Given the description of an element on the screen output the (x, y) to click on. 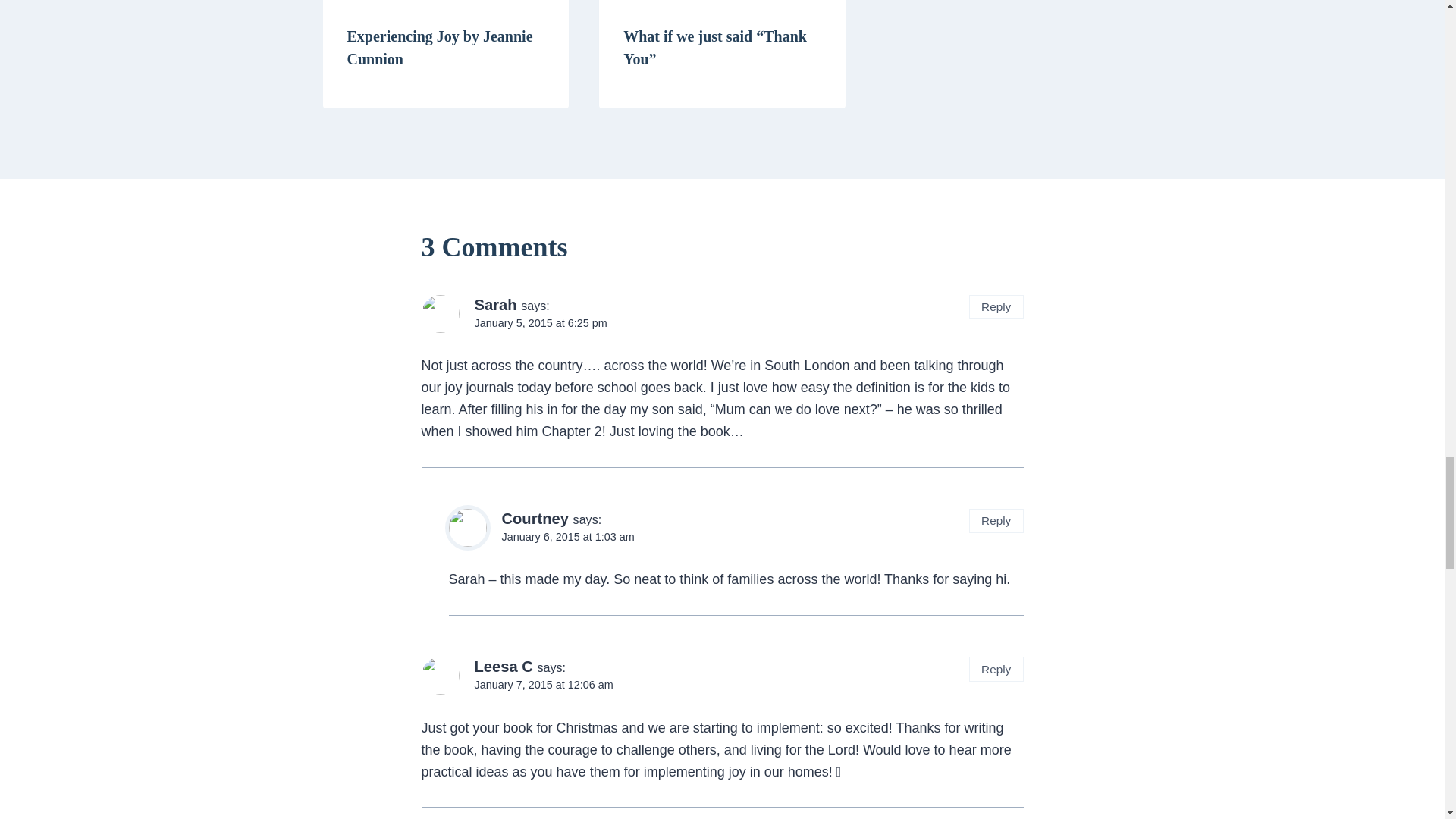
Reply (996, 520)
January 7, 2015 at 12:06 am (543, 684)
Reply (996, 668)
Reply (996, 307)
January 5, 2015 at 6:25 pm (540, 322)
January 6, 2015 at 1:03 am (568, 536)
Experiencing Joy by Jeannie Cunnion (439, 47)
Leesa C (503, 666)
